Given the description of an element on the screen output the (x, y) to click on. 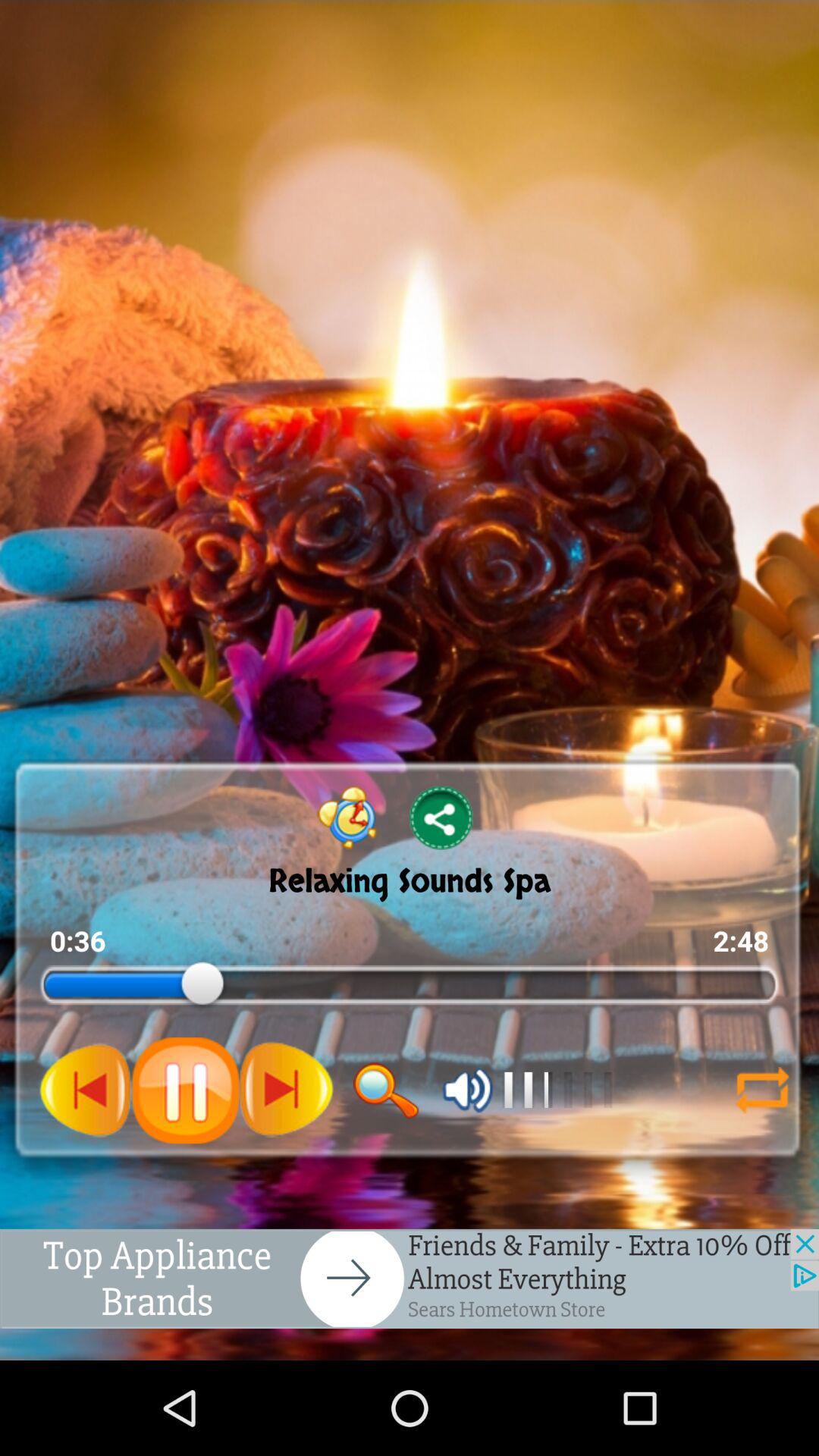
find sound (386, 1090)
